Given the description of an element on the screen output the (x, y) to click on. 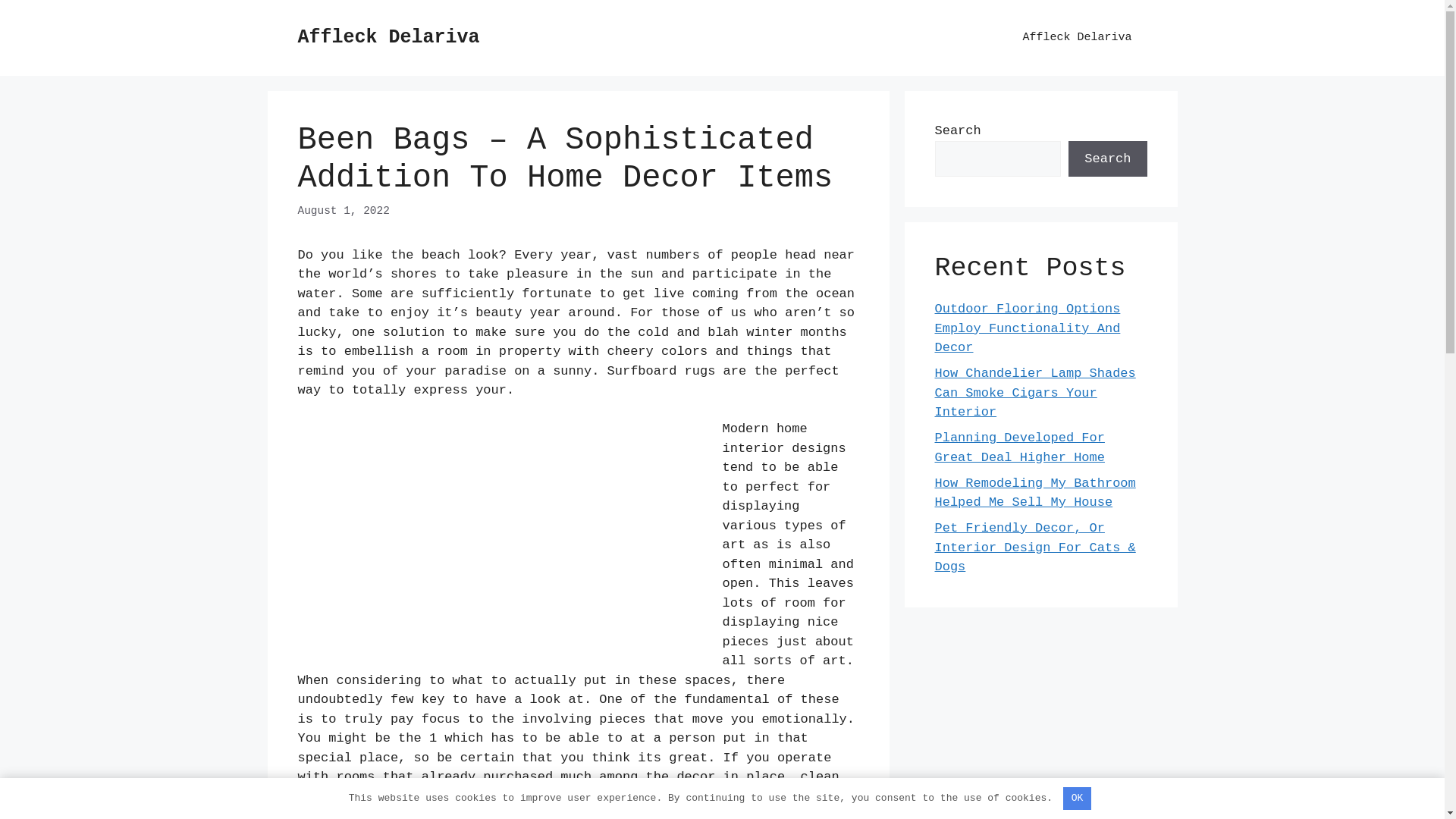
Outdoor Flooring Options Employ Functionality And Decor Element type: text (1027, 327)
Affleck Delariva Element type: text (1076, 37)
How Chandelier Lamp Shades Can Smoke Cigars Your Interior Element type: text (1034, 392)
Pet Friendly Decor, Or Interior Design For Cats & Dogs Element type: text (1034, 547)
OK Element type: text (1076, 798)
Planning Developed For Great Deal Higher Home Element type: text (1019, 447)
Affleck Delariva Element type: text (388, 37)
Search Element type: text (1107, 159)
How Remodeling My Bathroom Helped Me Sell My House Element type: text (1034, 493)
